Given the description of an element on the screen output the (x, y) to click on. 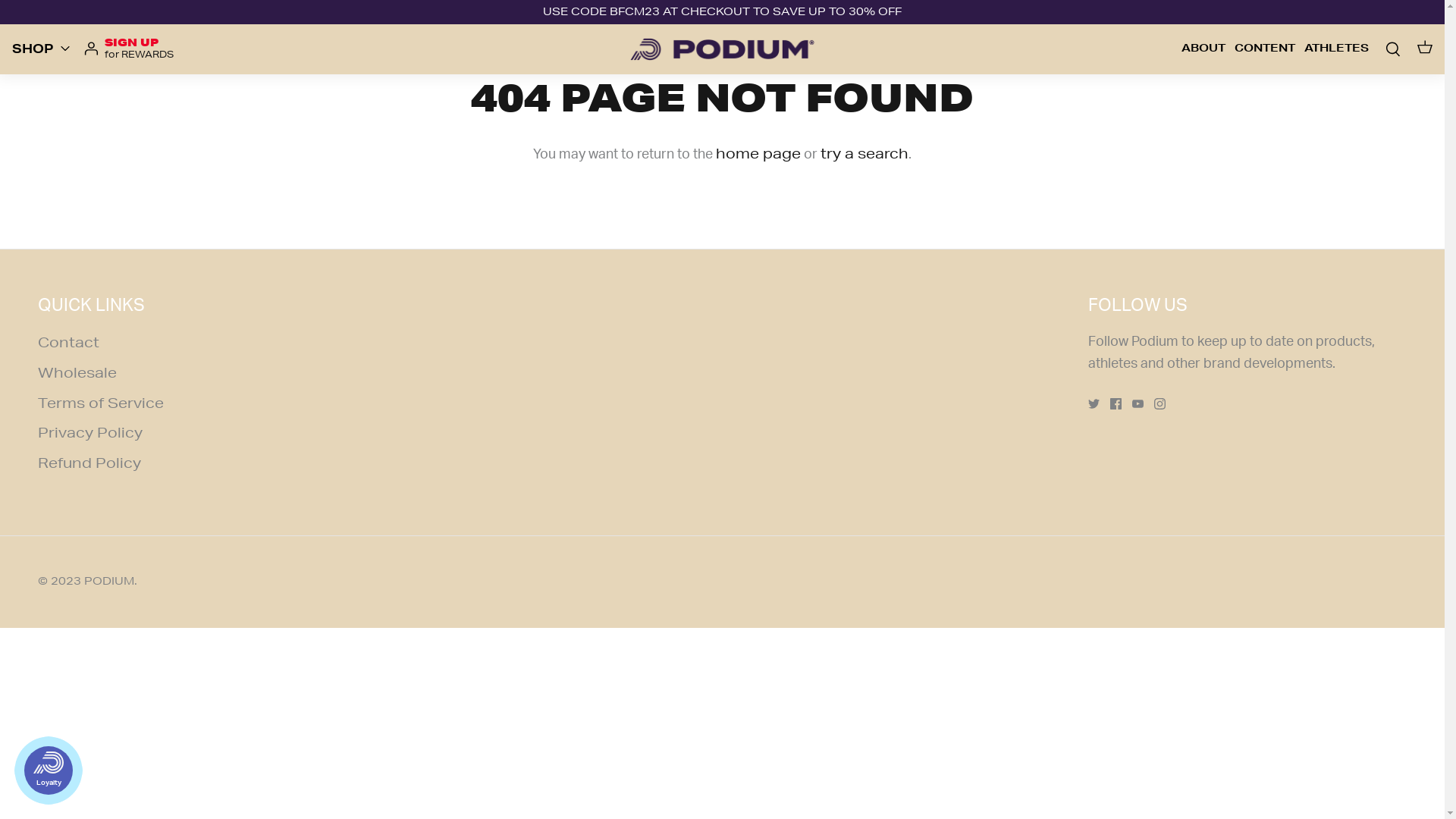
SIGN UP
for REWARDS Element type: text (128, 49)
CONTENT Element type: text (1264, 48)
Contact Element type: text (68, 341)
try a search Element type: text (864, 152)
Refund Policy Element type: text (89, 462)
Privacy Policy Element type: text (89, 431)
Terms of Service Element type: text (100, 402)
Wholesale Element type: text (76, 372)
SHOP Element type: text (1180, 47)
home page Element type: text (757, 152)
PODIUM Element type: text (109, 580)
Cart Element type: text (1422, 49)
Loyalty Element type: text (48, 770)
ABOUT Element type: text (1203, 48)
SHOP Element type: text (36, 48)
SIGN UP
for REWARDS Element type: text (138, 48)
Search Element type: text (1390, 48)
ATHLETES Element type: text (1336, 48)
USE CODE BFCM23 AT CHECKOUT TO SAVE UP TO 30% OFF Element type: text (721, 12)
PODIUM Element type: hover (722, 49)
